Given the description of an element on the screen output the (x, y) to click on. 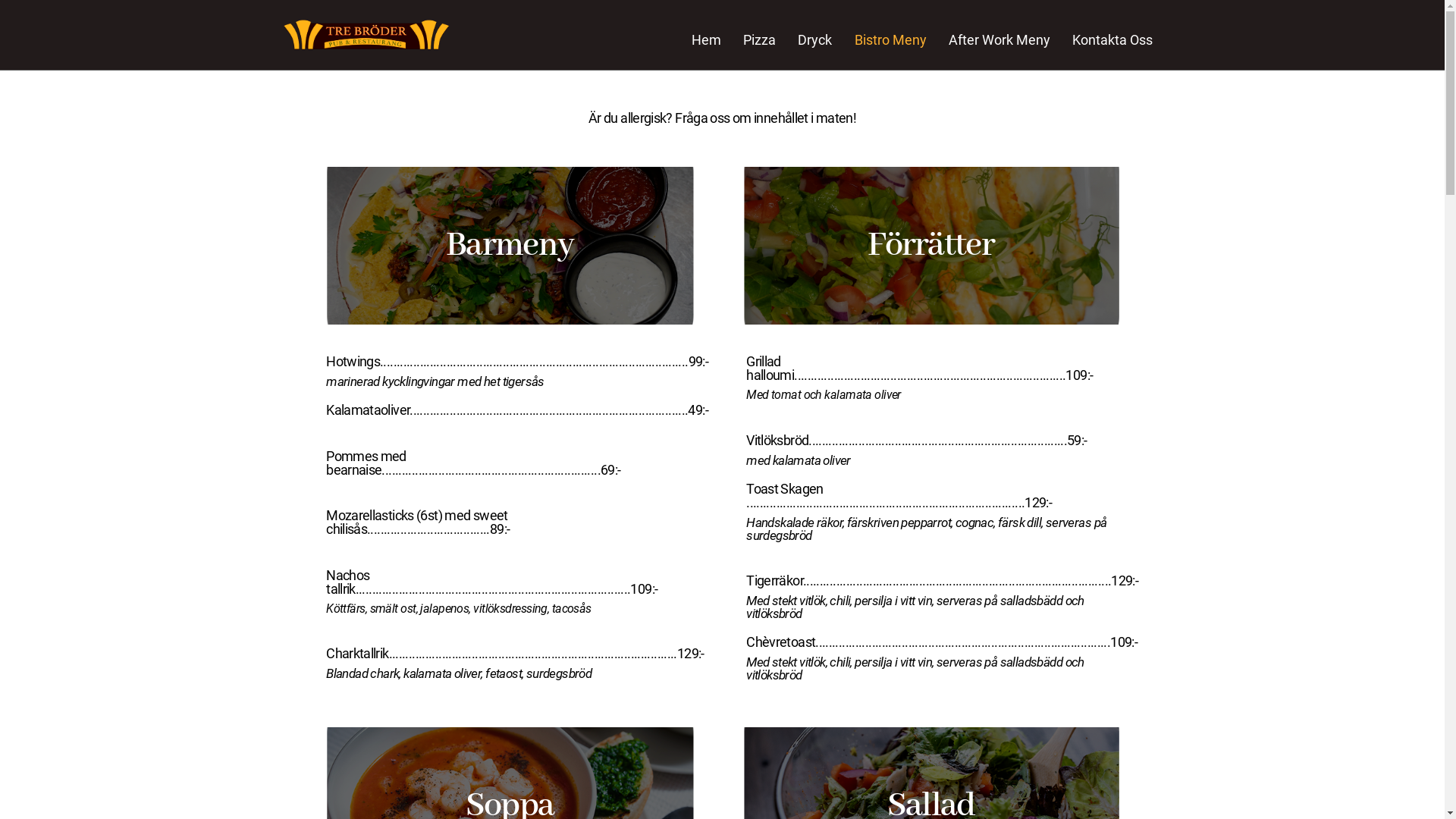
Hem Element type: text (705, 40)
Bistro Meny Element type: text (889, 40)
Dryck Element type: text (814, 40)
Kontakta Oss Element type: text (1111, 40)
Pizza Element type: text (759, 40)
After Work Meny Element type: text (998, 40)
